Given the description of an element on the screen output the (x, y) to click on. 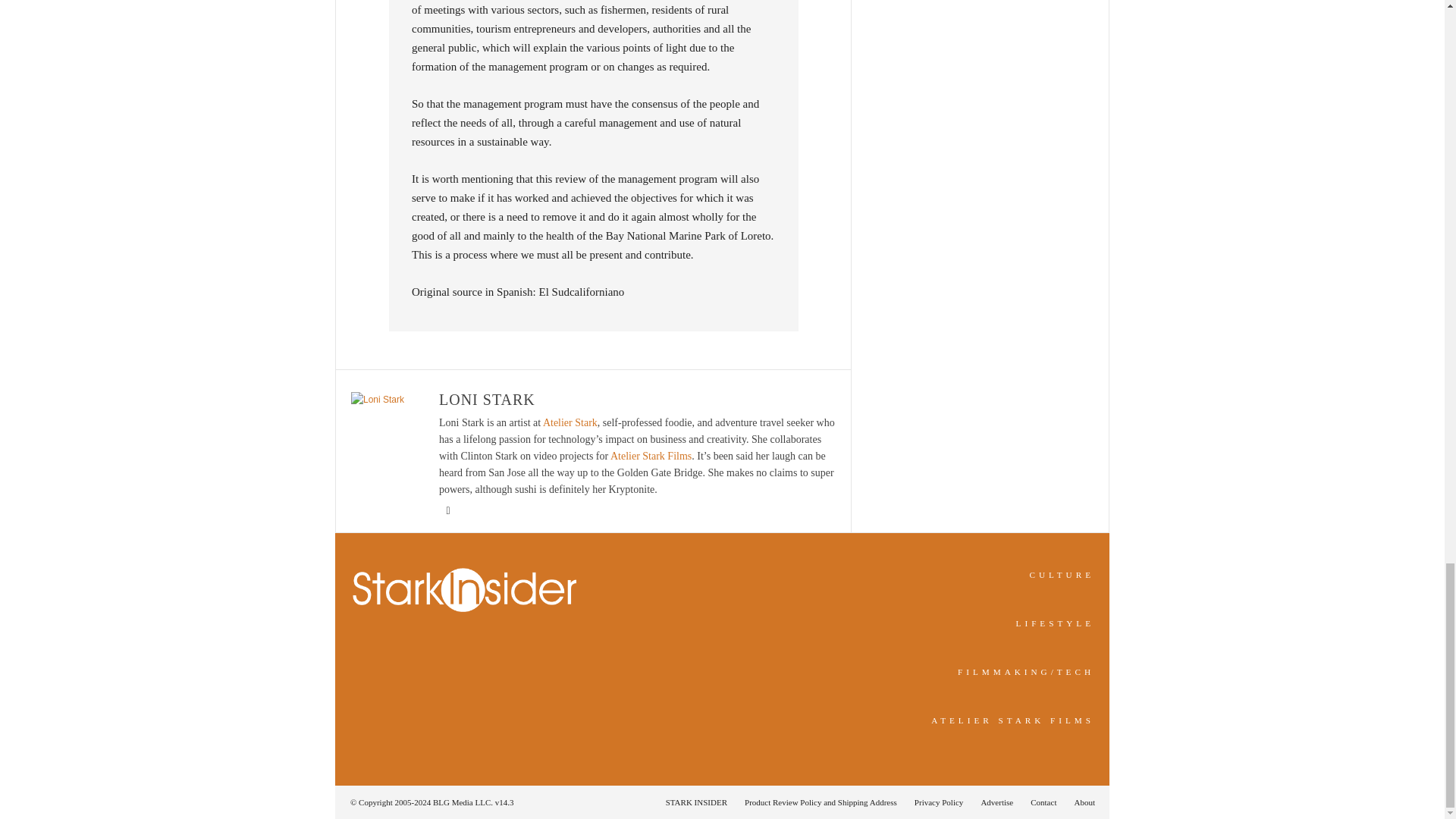
Contact (1043, 801)
CULTURE (1061, 574)
Atelier Stark Films (650, 455)
Privacy Policy (939, 801)
Product Review Policy and Shipping Address (820, 801)
Atelier Stark (569, 422)
ATELIER STARK FILMS (1012, 719)
STARK INSIDER (696, 801)
Advertise (996, 801)
LIFESTYLE (1055, 623)
